Given the description of an element on the screen output the (x, y) to click on. 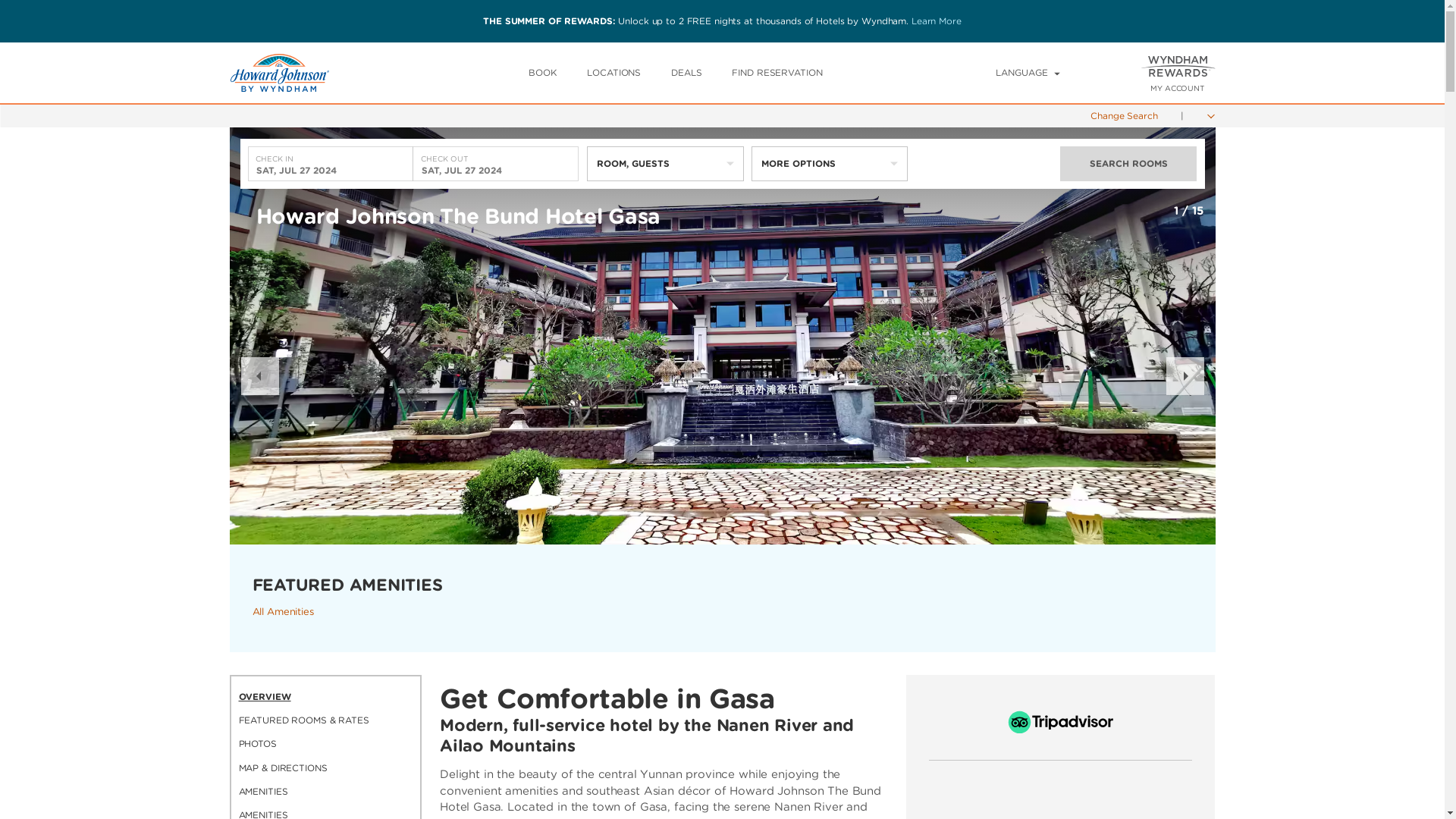
DEALS (686, 71)
BOOK (542, 71)
FIND RESERVATION (777, 71)
LANGUAGE (1028, 72)
MY ACCOUNT (1177, 88)
Learn More (935, 20)
LOCATIONS (613, 71)
